Given the description of an element on the screen output the (x, y) to click on. 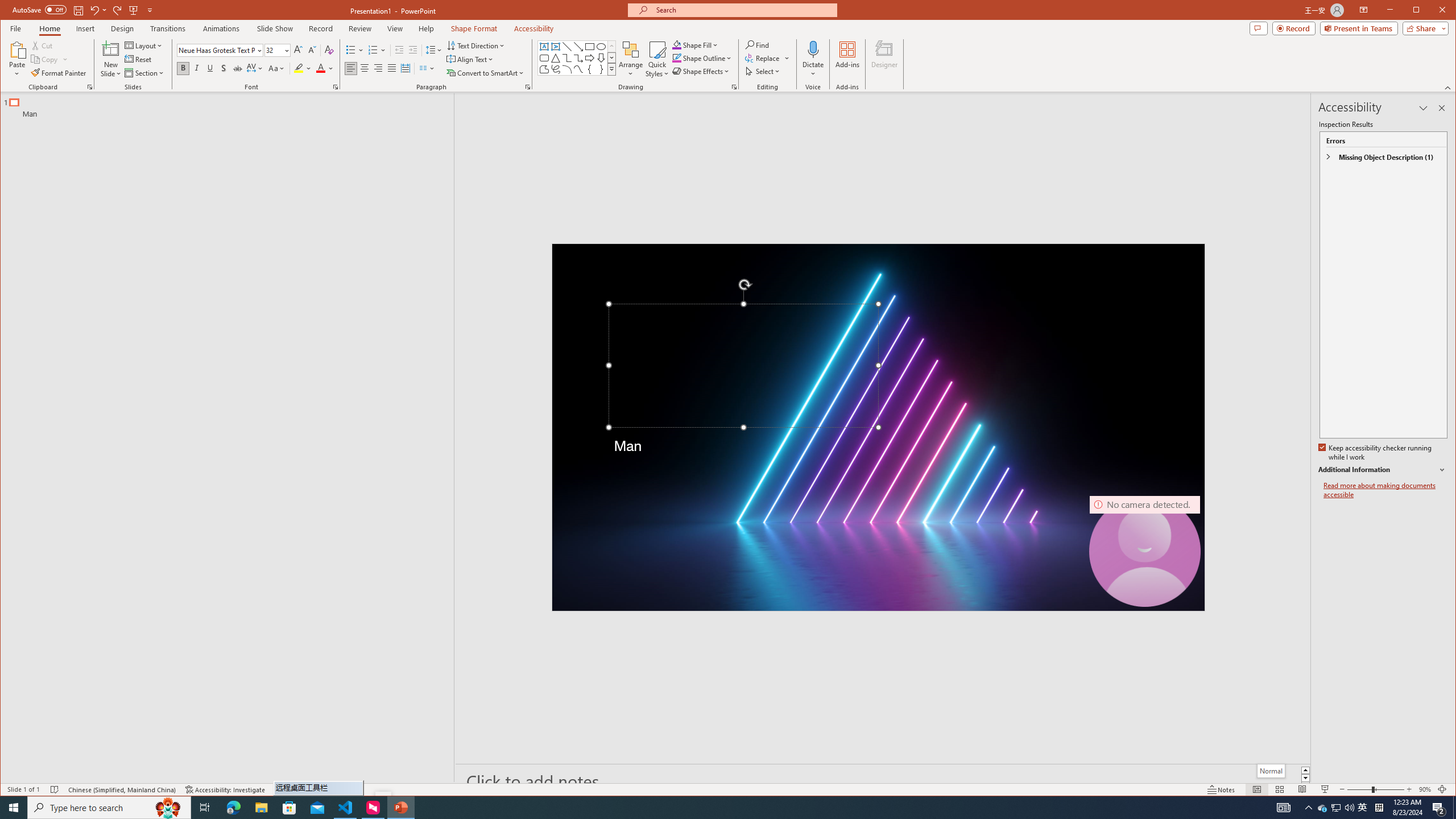
Select (763, 70)
Clear Formatting (328, 49)
Shape Effects (702, 70)
Read more about making documents accessible (1385, 489)
Keep accessibility checker running while I work (1375, 452)
Underline (209, 68)
Search highlights icon opens search home window (167, 807)
Additional Information (1382, 469)
AutomationID: 4105 (1283, 807)
